Given the description of an element on the screen output the (x, y) to click on. 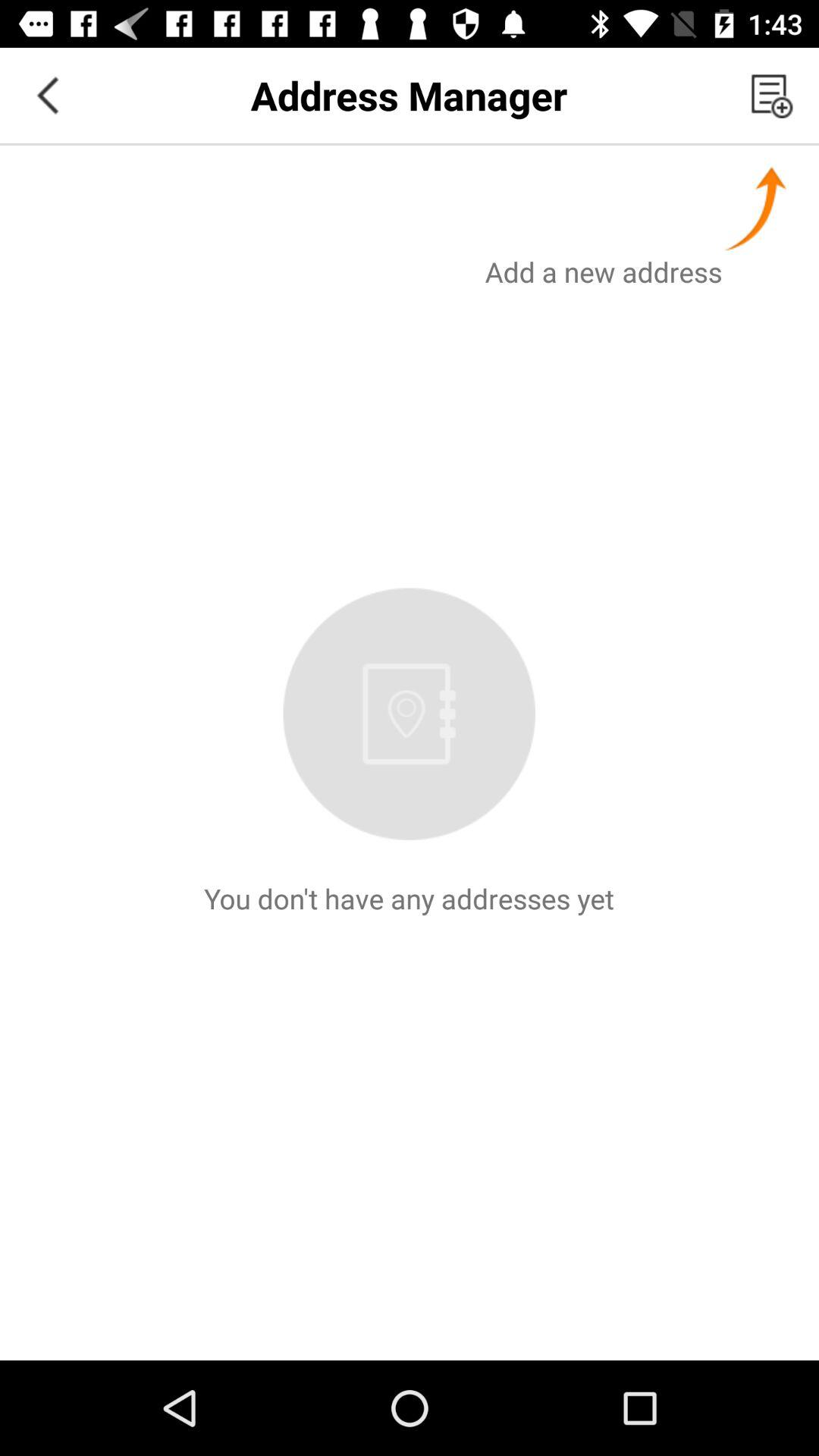
open app next to address manager (47, 95)
